Given the description of an element on the screen output the (x, y) to click on. 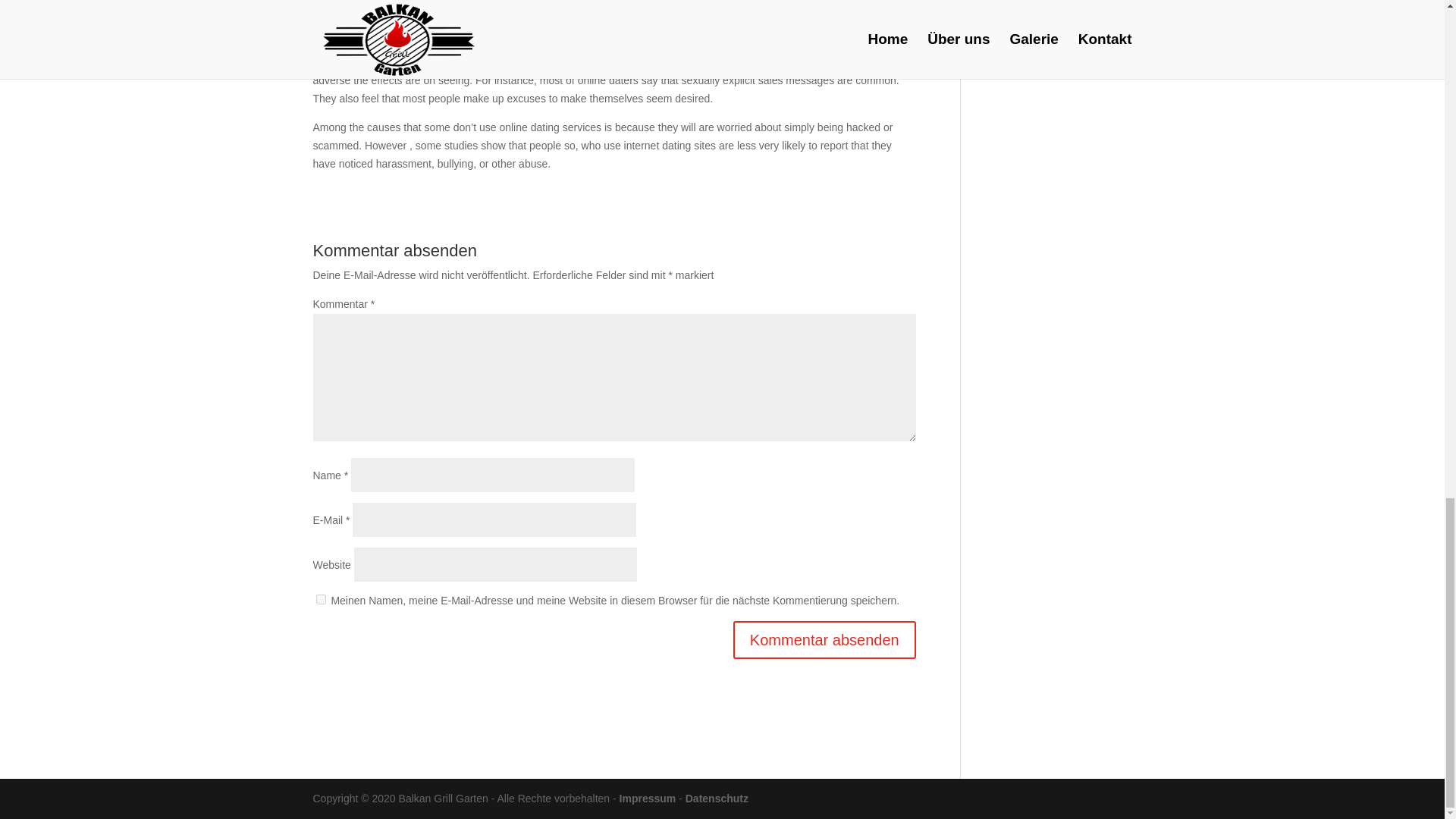
Kommentar absenden (824, 639)
Impressum (648, 798)
yes (319, 599)
Datenschutz (716, 798)
Kommentar absenden (824, 639)
